Given the description of an element on the screen output the (x, y) to click on. 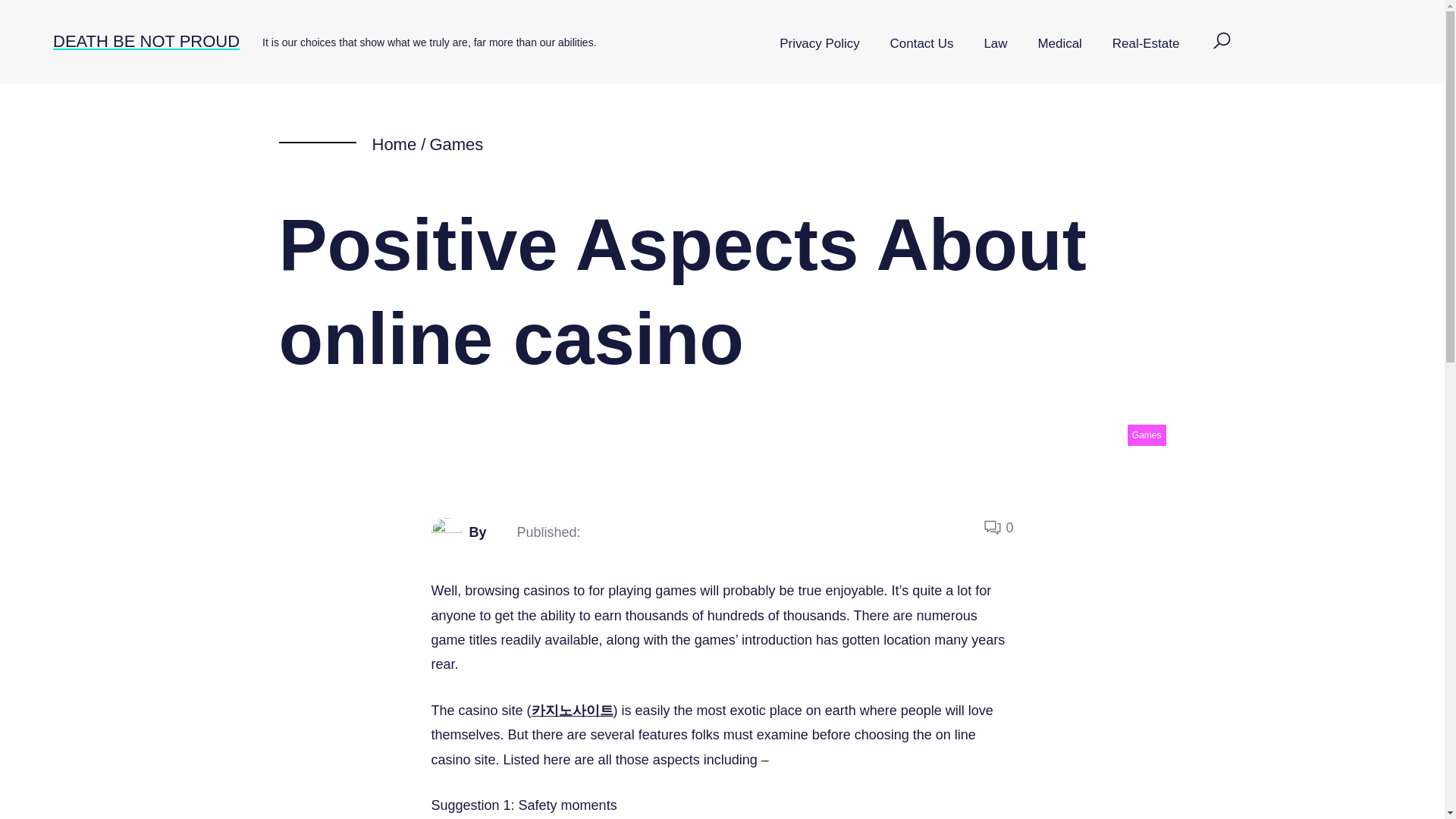
Games (1146, 435)
Medical (1059, 43)
Games (456, 144)
Contact Us (922, 43)
Privacy Policy (819, 43)
Real-Estate (1146, 43)
DEATH BE NOT PROUD (146, 40)
Home (393, 144)
